Given the description of an element on the screen output the (x, y) to click on. 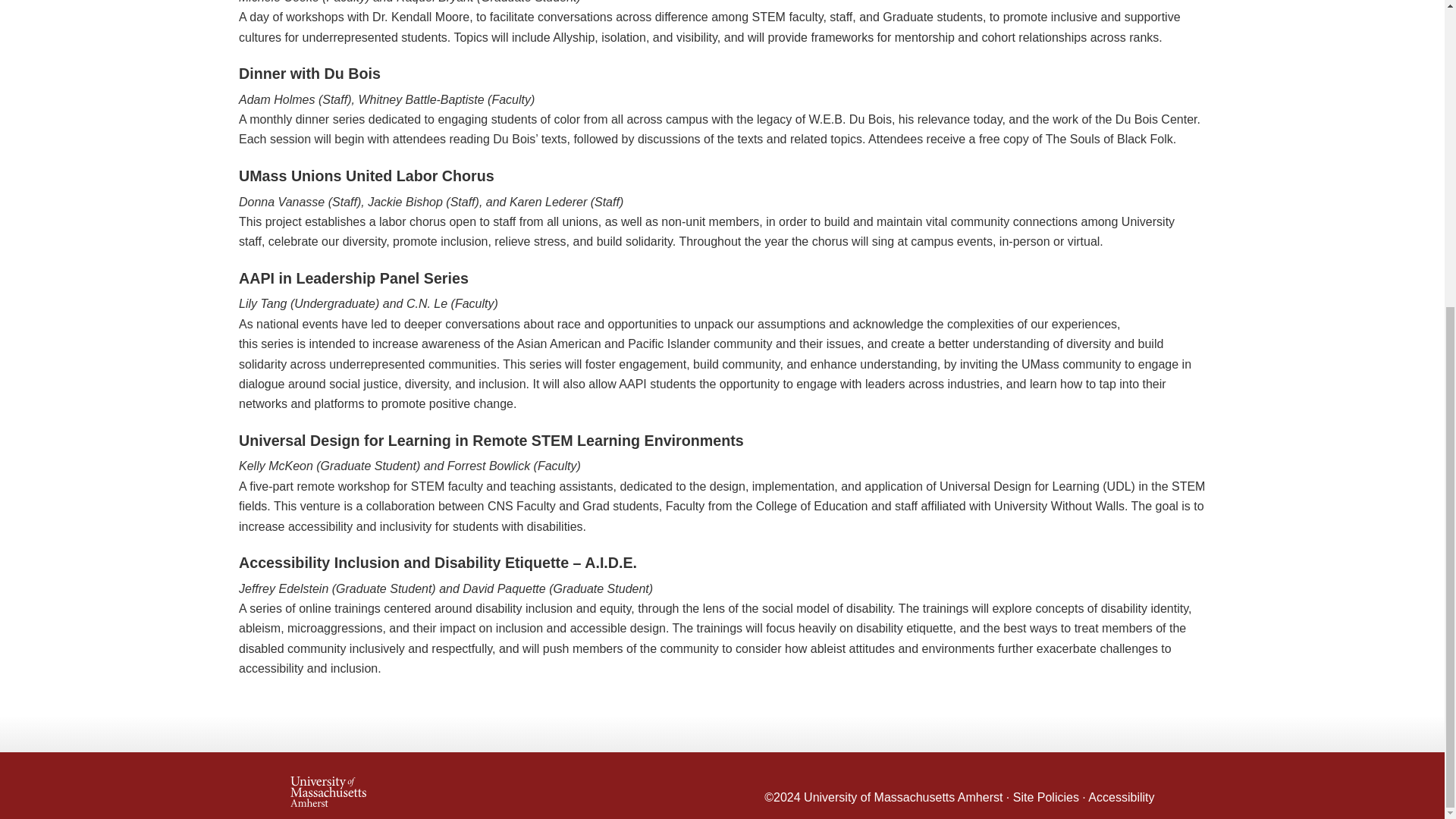
University of Massachusetts Amherst (505, 785)
University of Massachusetts Amherst (903, 797)
Accessibility (1120, 797)
Site Policies (1045, 797)
